Given the description of an element on the screen output the (x, y) to click on. 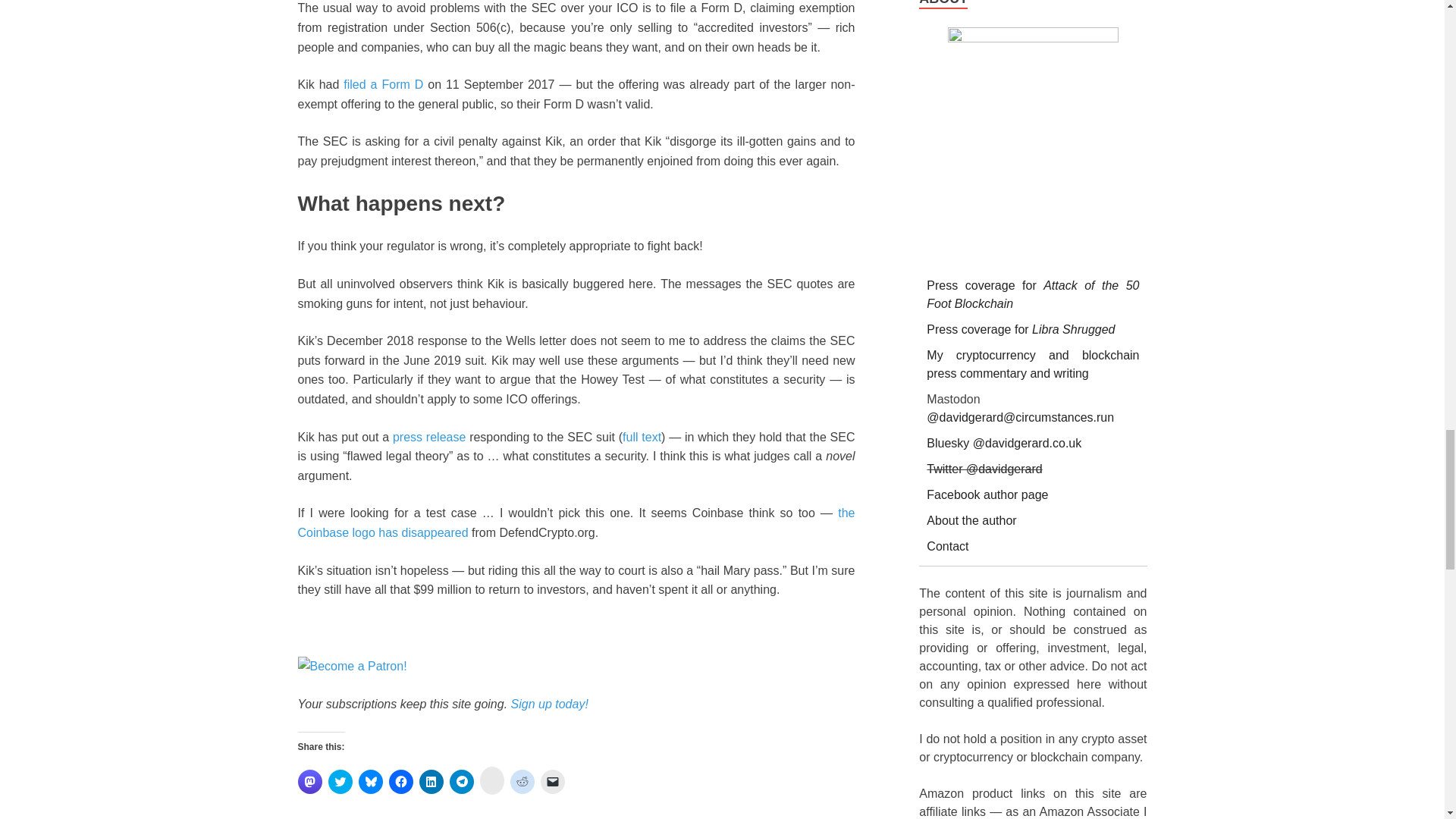
Click to email a link to a friend (552, 781)
Click to share on Facebook (400, 781)
Click to share on Reddit (521, 781)
Click to share on Bluesky (369, 781)
Become a Patron! (351, 666)
Click to share on Telegram (460, 781)
Click to share on Mastodon (309, 781)
Click to share on Twitter (339, 781)
Click to share on LinkedIn (430, 781)
